Given the description of an element on the screen output the (x, y) to click on. 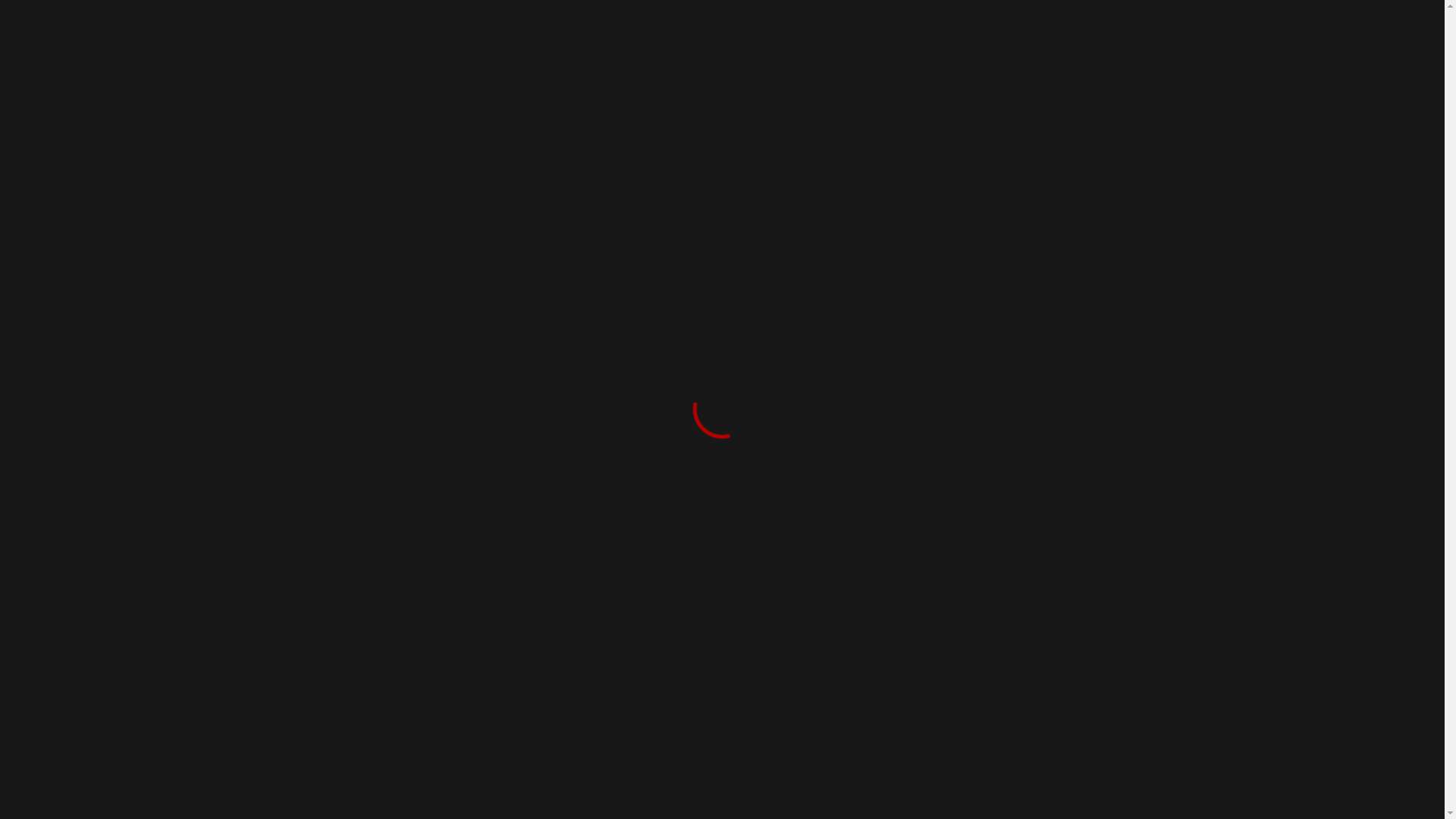
HOME Element type: text (301, 339)
EN Element type: text (1144, 18)
44.1 Recording Studios Element type: hover (373, 39)
RPG Element type: text (421, 531)
CONTACT Element type: text (914, 88)
Link to twitter Element type: text (1054, 22)
Link to facebook Element type: text (1080, 22)
Link to instagram Element type: text (1026, 22)
MULTIMEDIA Element type: text (649, 88)
STUDIO 2 Element type: text (436, 88)
STUDIO 1 Element type: text (338, 88)
CA Element type: text (1107, 18)
SERVICES Element type: text (537, 88)
ES Element type: text (1125, 18)
NEWS Element type: text (745, 88)
SOCIAL Element type: text (823, 88)
